Given the description of an element on the screen output the (x, y) to click on. 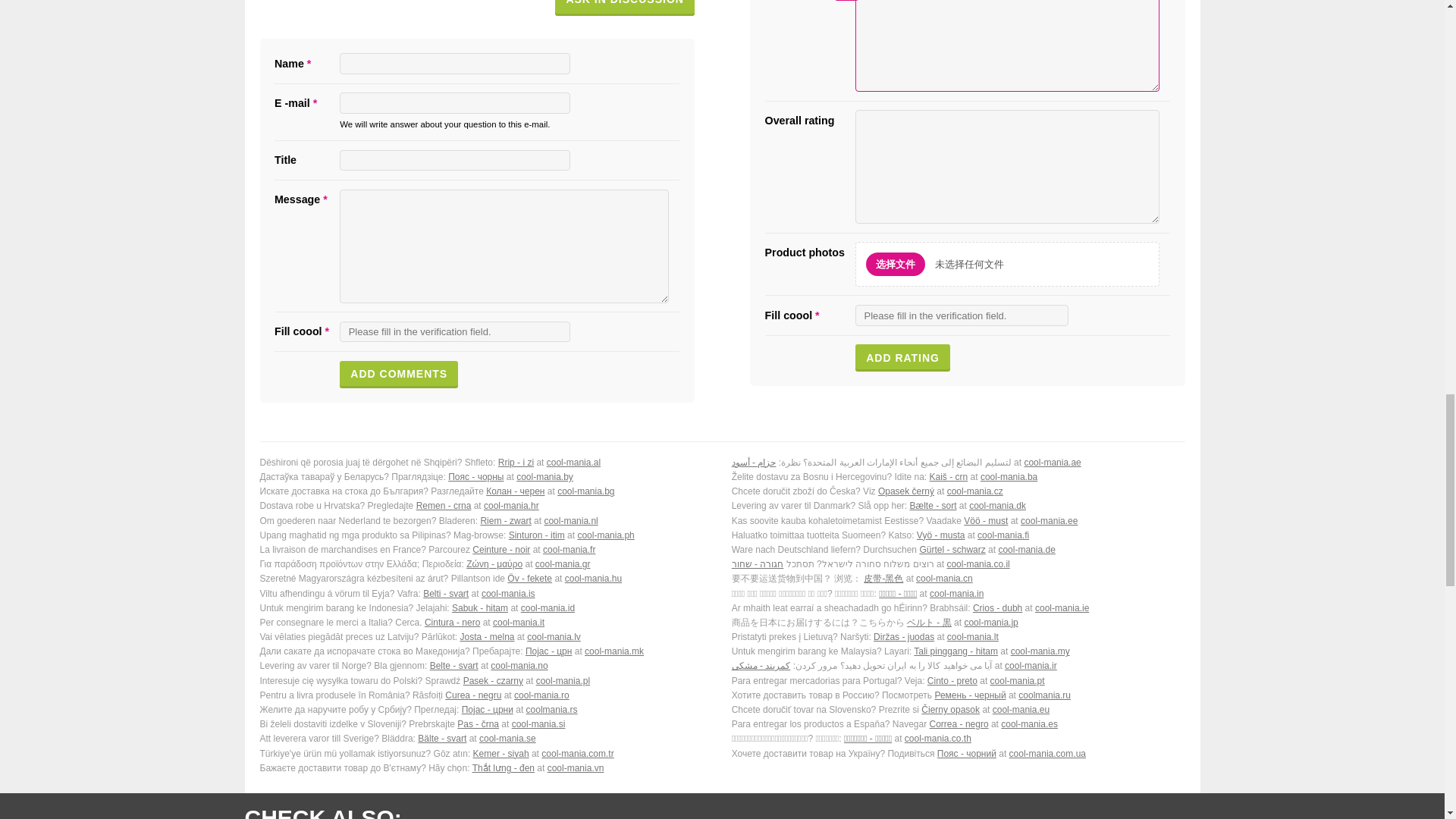
Add rating (903, 329)
To deliver goods worldwide? Browse: (486, 522)
Add rating (903, 329)
To deliver goods worldwide? Browse: (958, 522)
Add comments (398, 347)
To deliver goods worldwide? Browse: (486, 566)
To deliver goods worldwide? Browse: (958, 566)
To deliver goods worldwide? Browse: (958, 536)
To deliver goods worldwide? Browse: (486, 464)
To deliver goods worldwide? Browse: (958, 551)
